Given the description of an element on the screen output the (x, y) to click on. 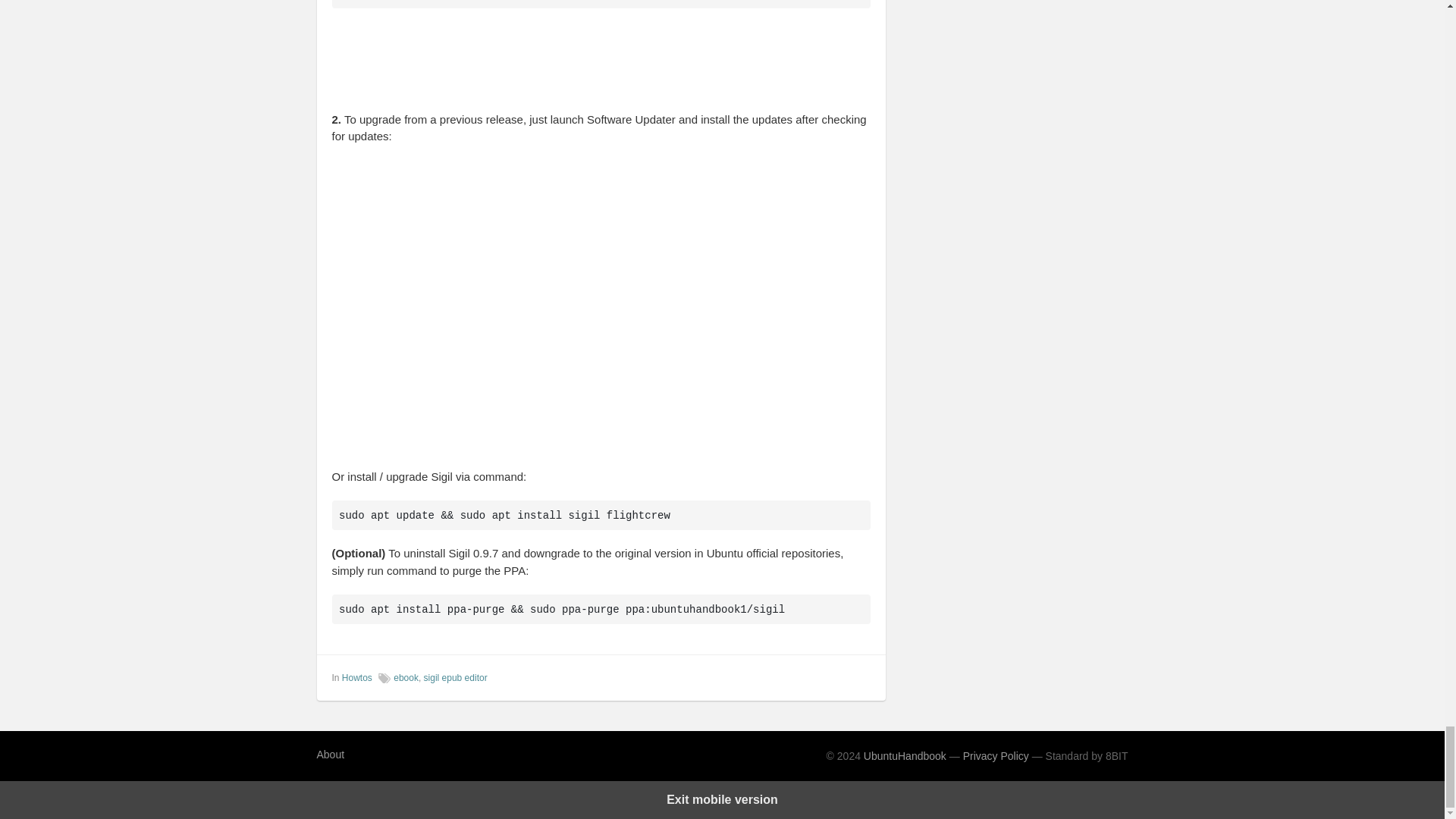
permalink (860, 676)
